Given the description of an element on the screen output the (x, y) to click on. 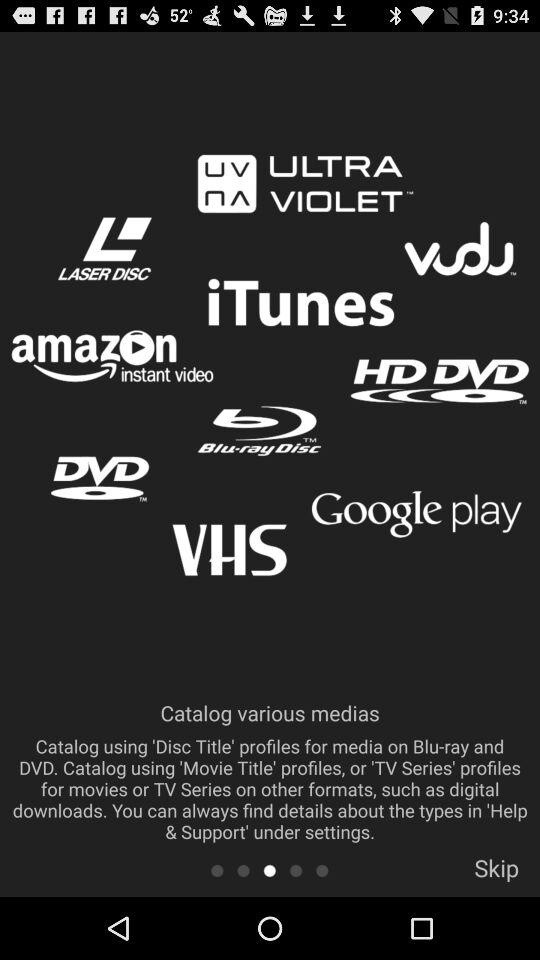
third banner (269, 870)
